Given the description of an element on the screen output the (x, y) to click on. 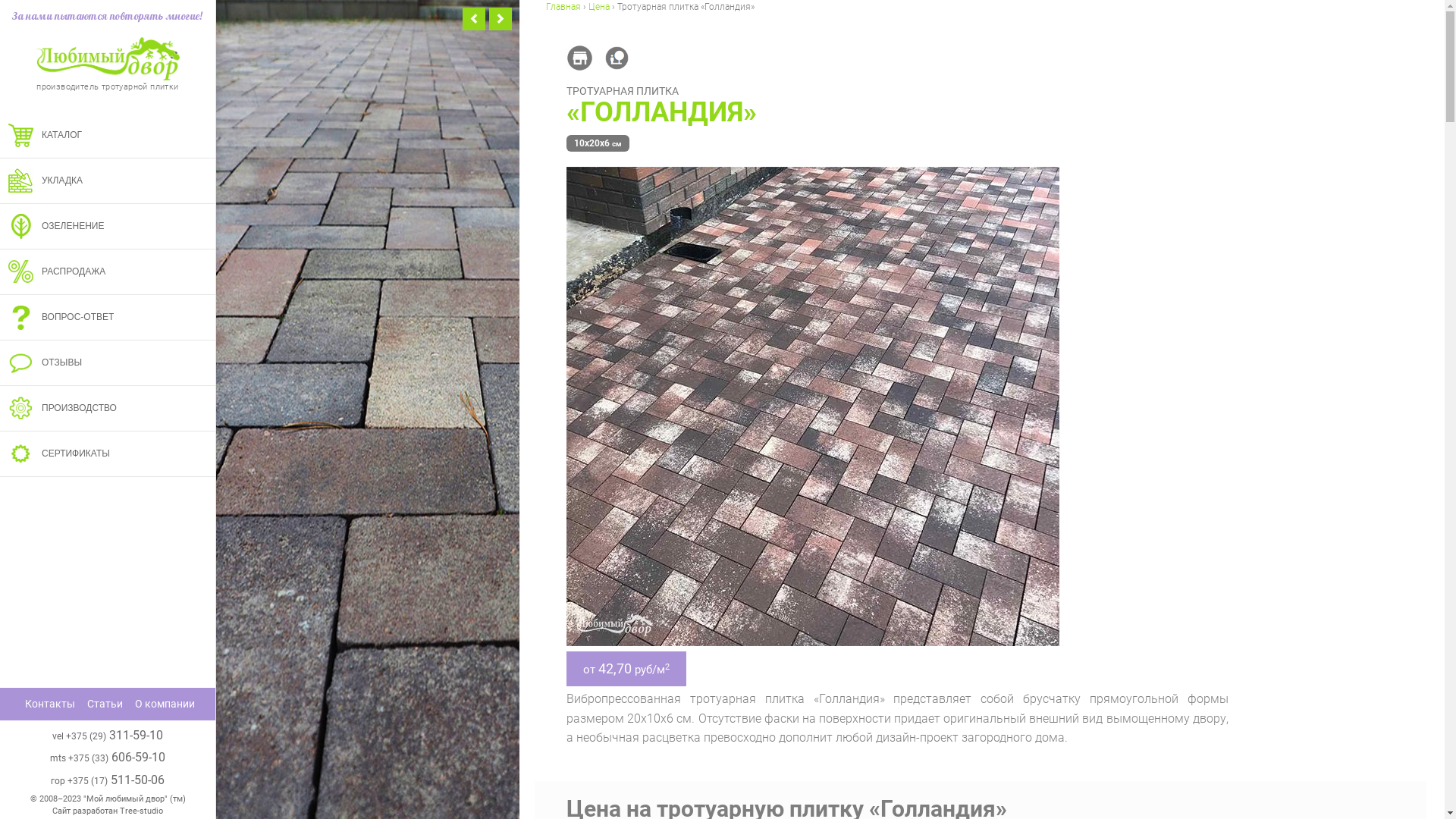
mts +375 (33) 606-59-10 Element type: text (107, 756)
vel +375 (29) 311-59-10 Element type: text (107, 735)
